Given the description of an element on the screen output the (x, y) to click on. 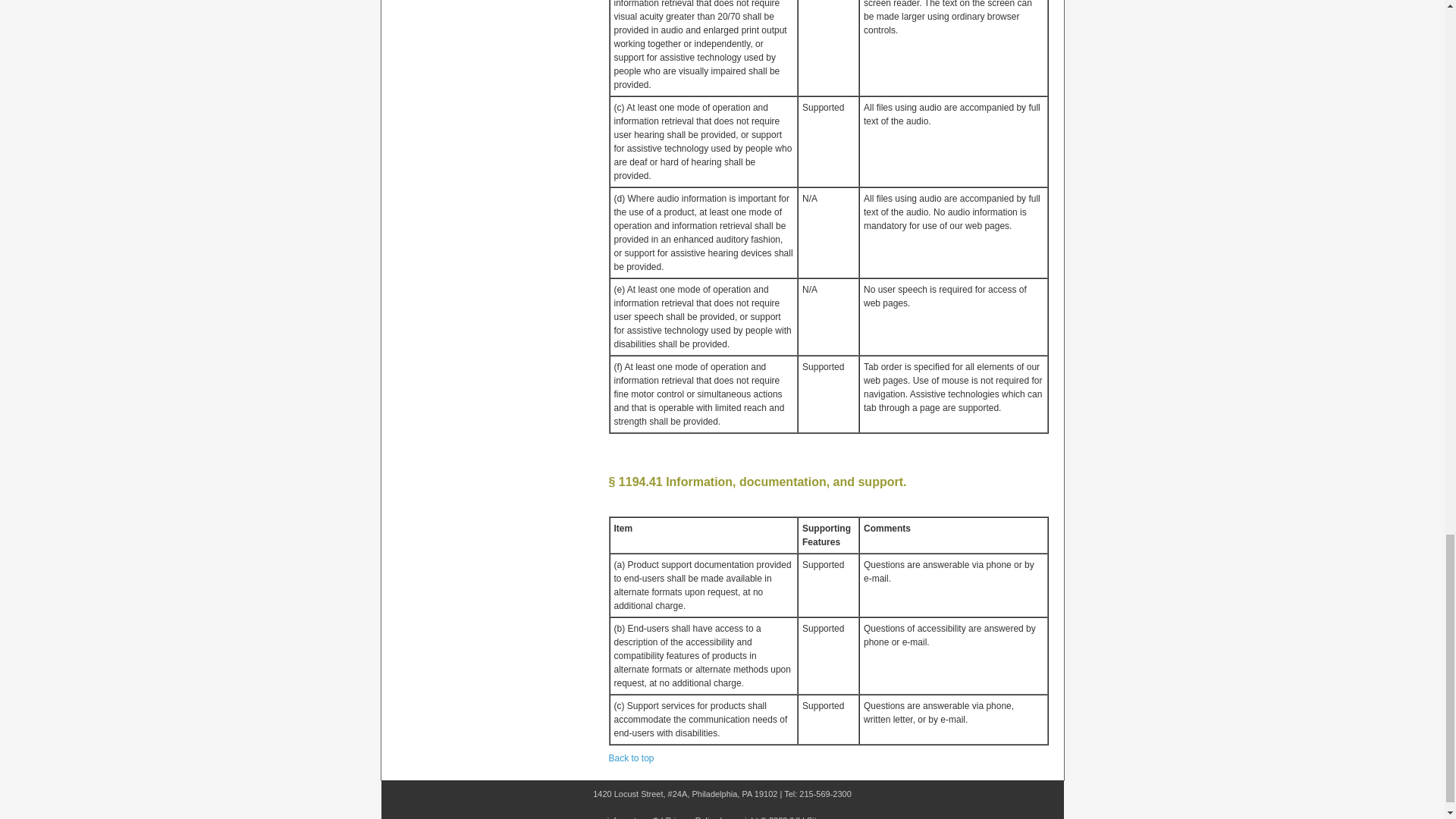
Back to top (630, 757)
